Given the description of an element on the screen output the (x, y) to click on. 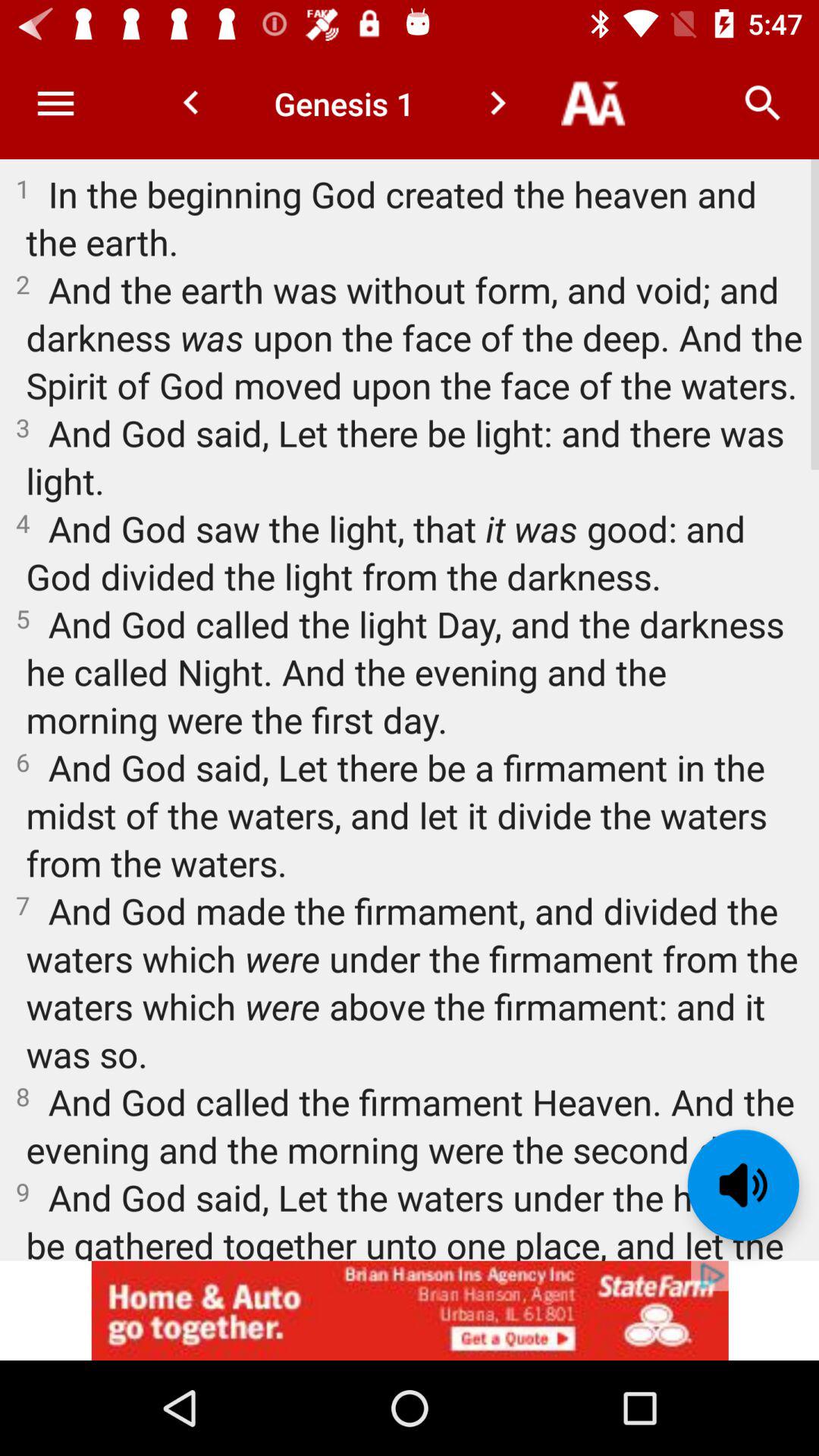
select the volume option (743, 1185)
